Given the description of an element on the screen output the (x, y) to click on. 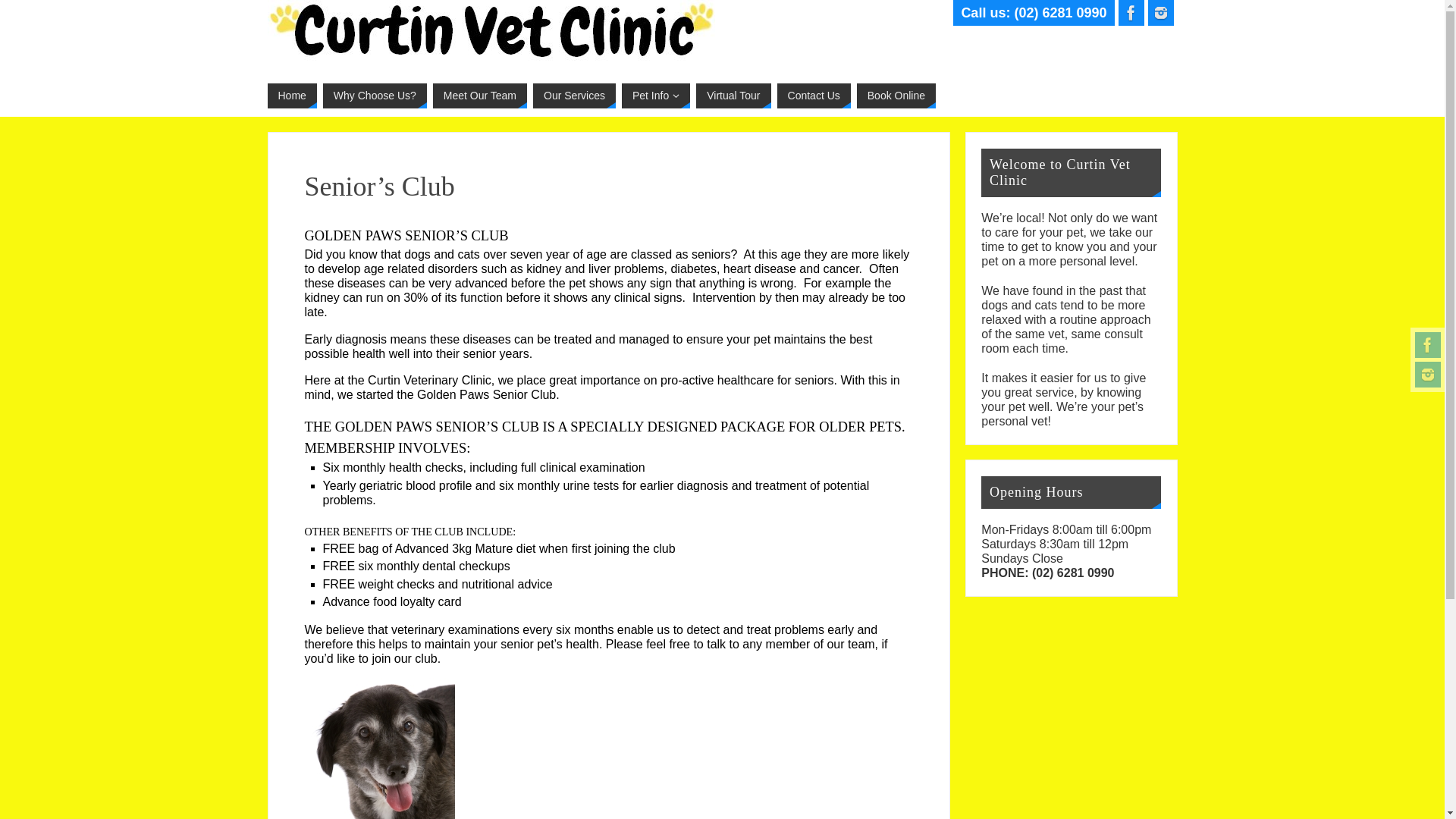
Why Choose Us? Element type: text (374, 95)
Virtual Tour Element type: text (733, 95)
Contact Us Element type: text (813, 95)
Book Online Element type: text (895, 95)
Facebook Element type: hover (1130, 12)
Meet Our Team Element type: text (480, 95)
Instagram Element type: hover (1427, 374)
Call us: (02) 6281 0990 Element type: text (1033, 12)
Facebook Element type: hover (1427, 344)
Home Element type: text (291, 95)
Pet Info Element type: text (655, 95)
Instagram Element type: hover (1160, 12)
Our Services Element type: text (574, 95)
